Given the description of an element on the screen output the (x, y) to click on. 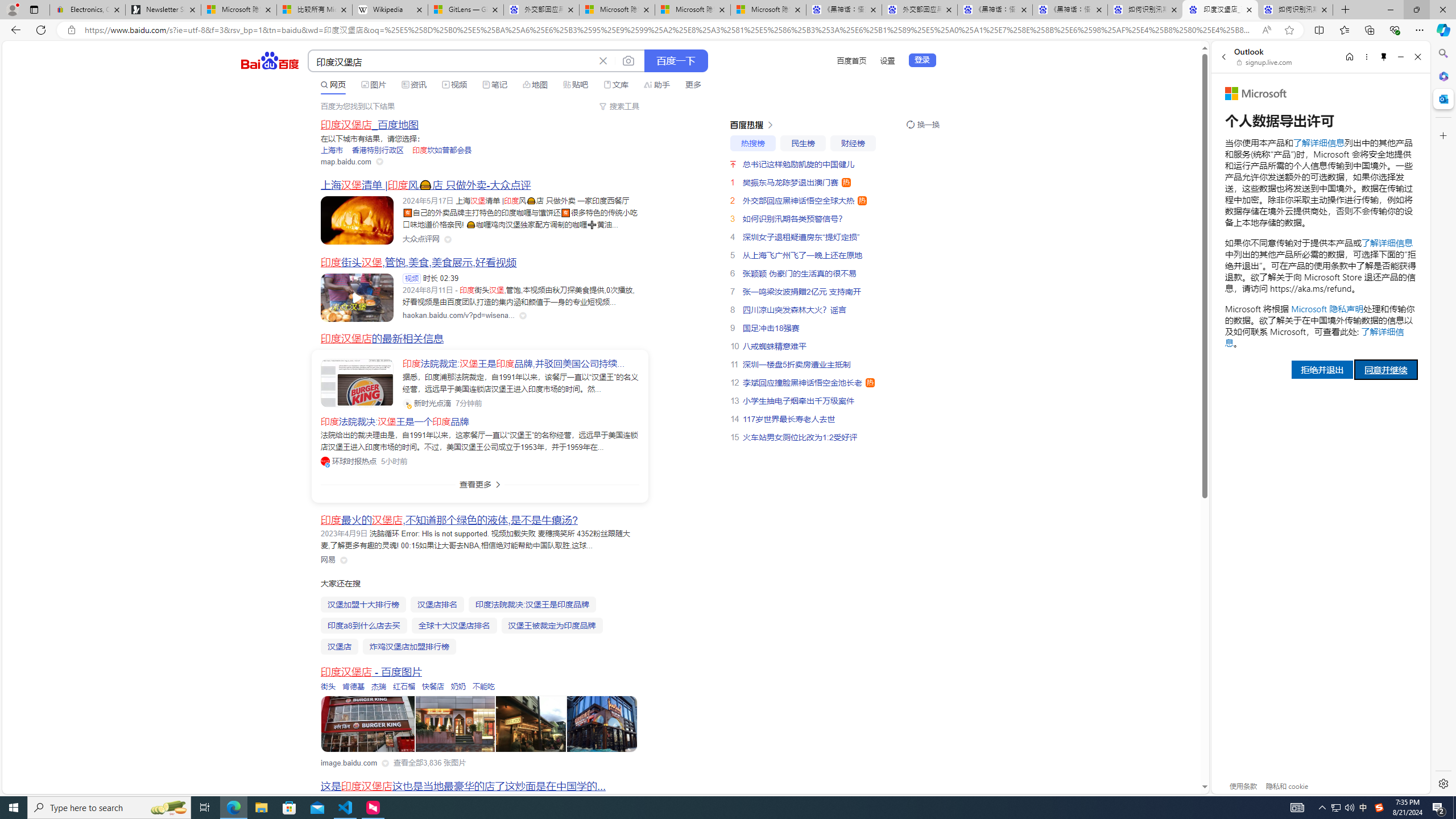
AutomationID: kw (451, 61)
